Given the description of an element on the screen output the (x, y) to click on. 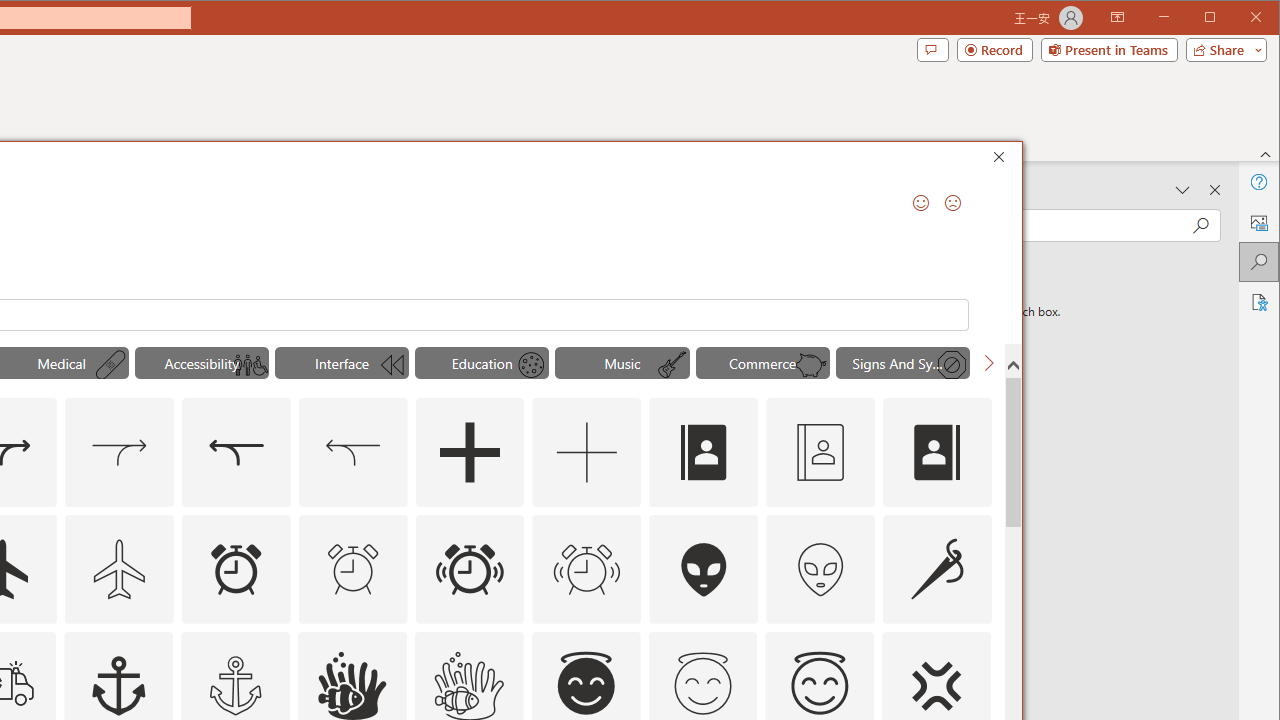
"Signs And Symbols" Icons. (902, 362)
Thumbnail (975, 646)
AutomationID: Icons_Add (469, 452)
"Interface" Icons. (342, 362)
Maximize (1238, 18)
AutomationID: Icons_AlarmClock (235, 568)
AutomationID: Icons_Airplane_M (118, 568)
